Given the description of an element on the screen output the (x, y) to click on. 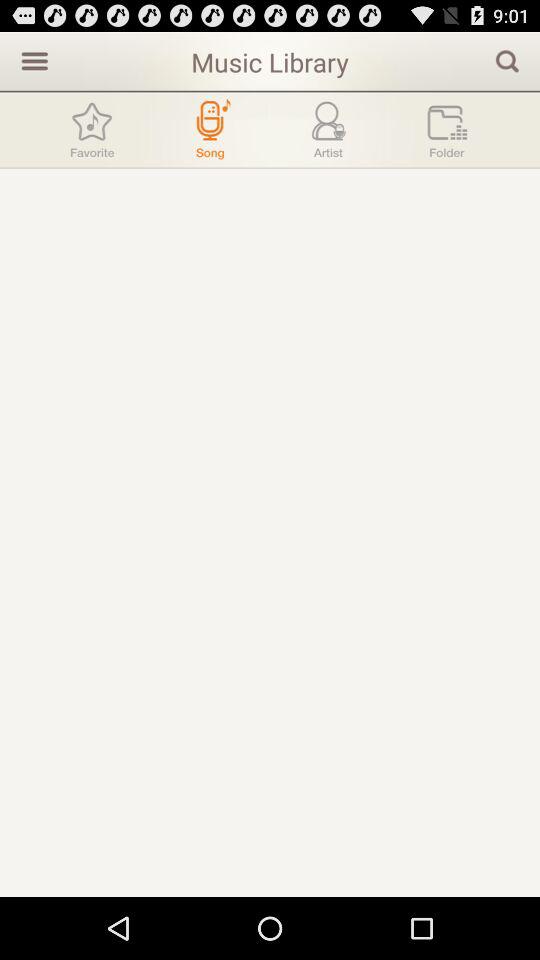
turn off the item to the left of music library icon (32, 60)
